Given the description of an element on the screen output the (x, y) to click on. 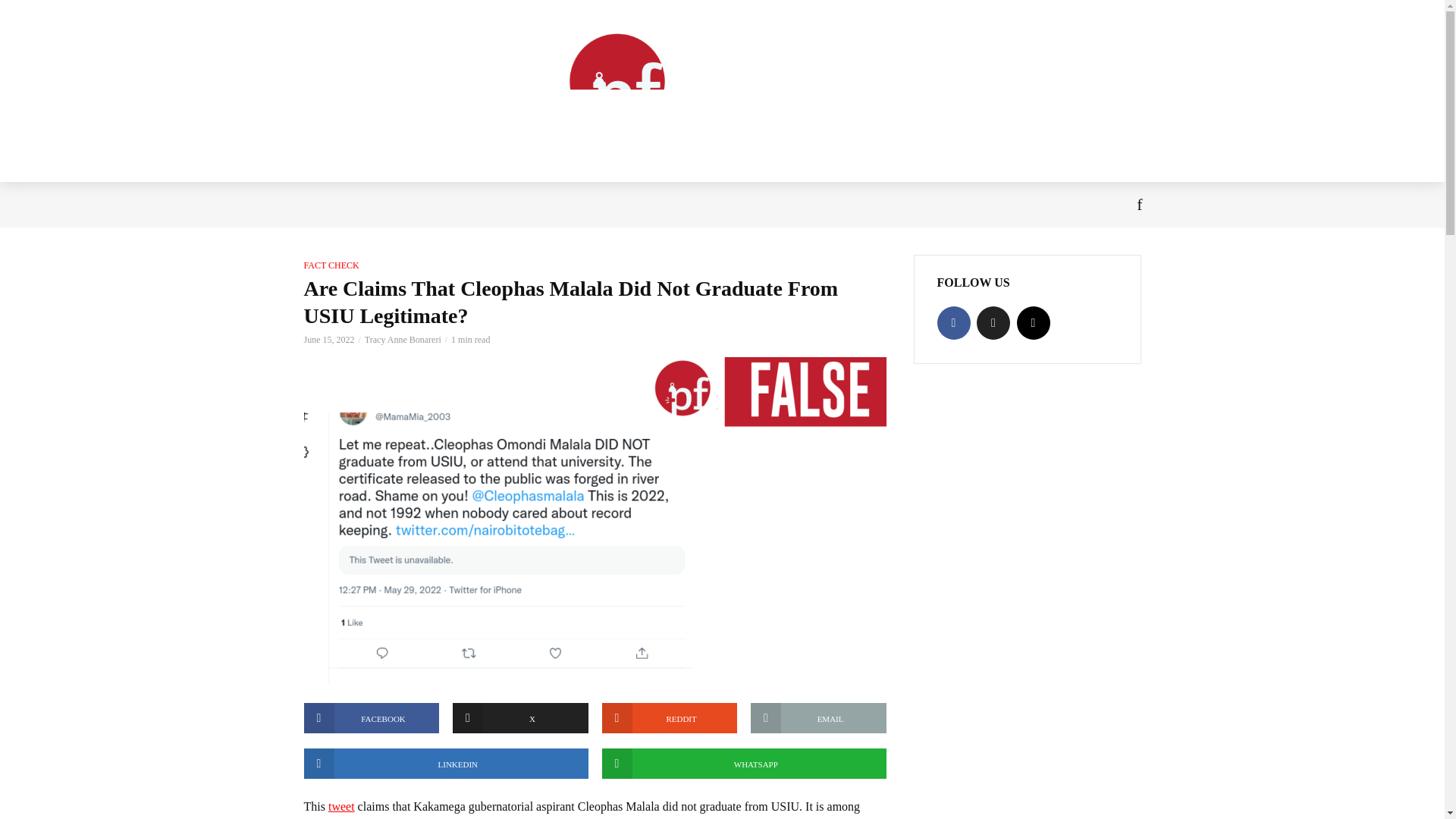
Facebook (954, 322)
Instagram (1032, 322)
FACT CHECK (330, 265)
